Given the description of an element on the screen output the (x, y) to click on. 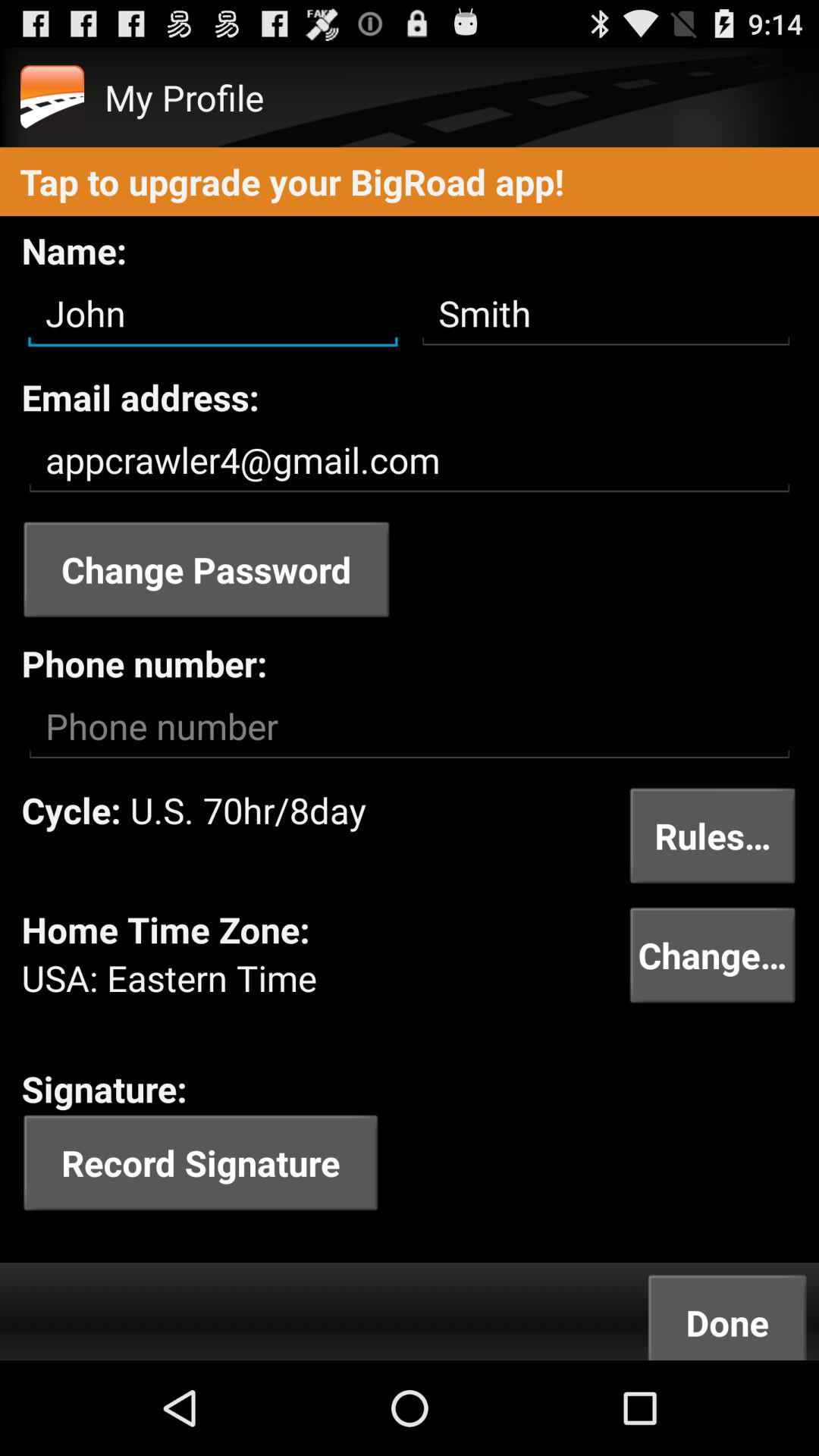
put your phone number (409, 726)
